Given the description of an element on the screen output the (x, y) to click on. 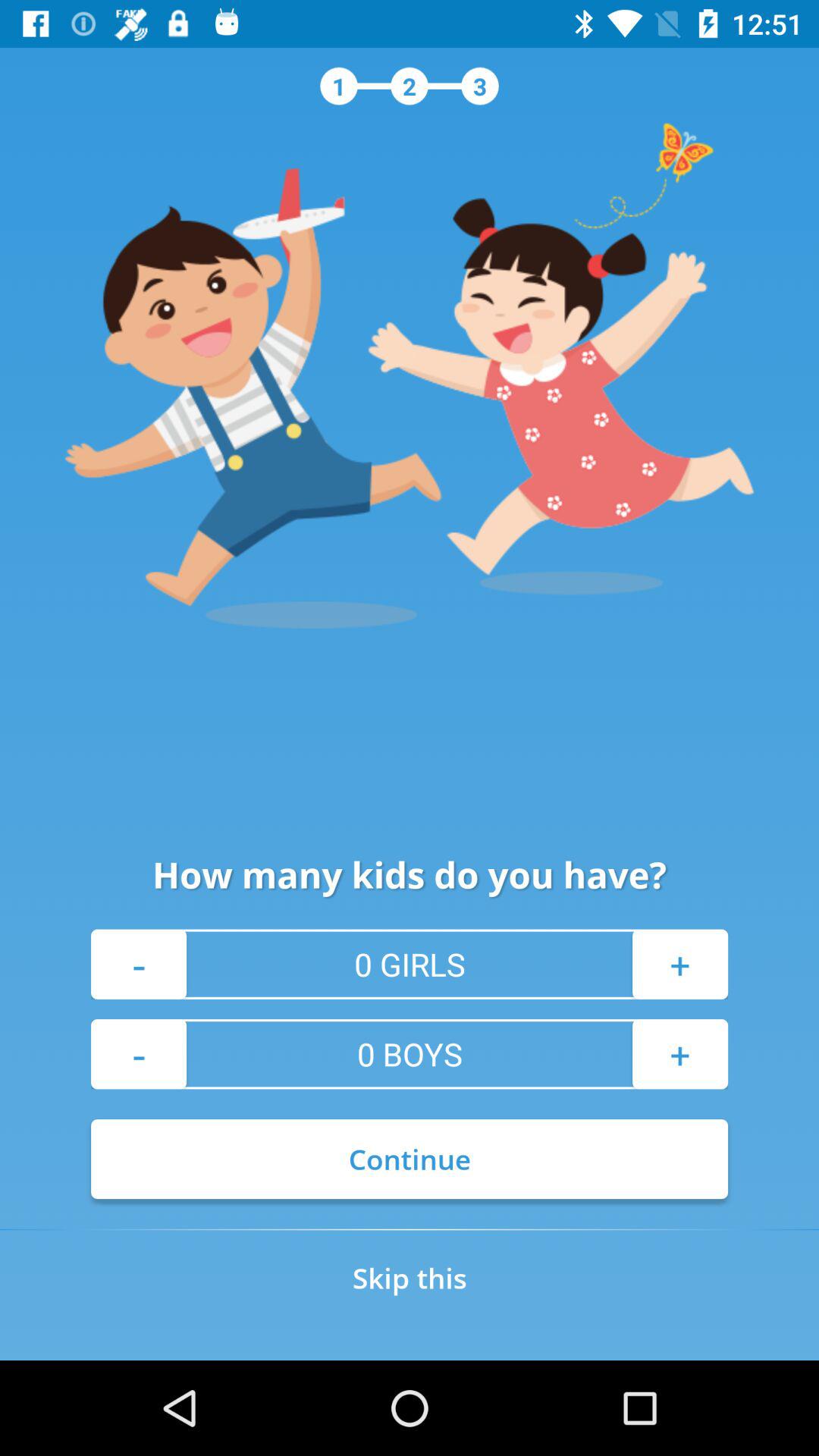
flip to continue (409, 1158)
